Given the description of an element on the screen output the (x, y) to click on. 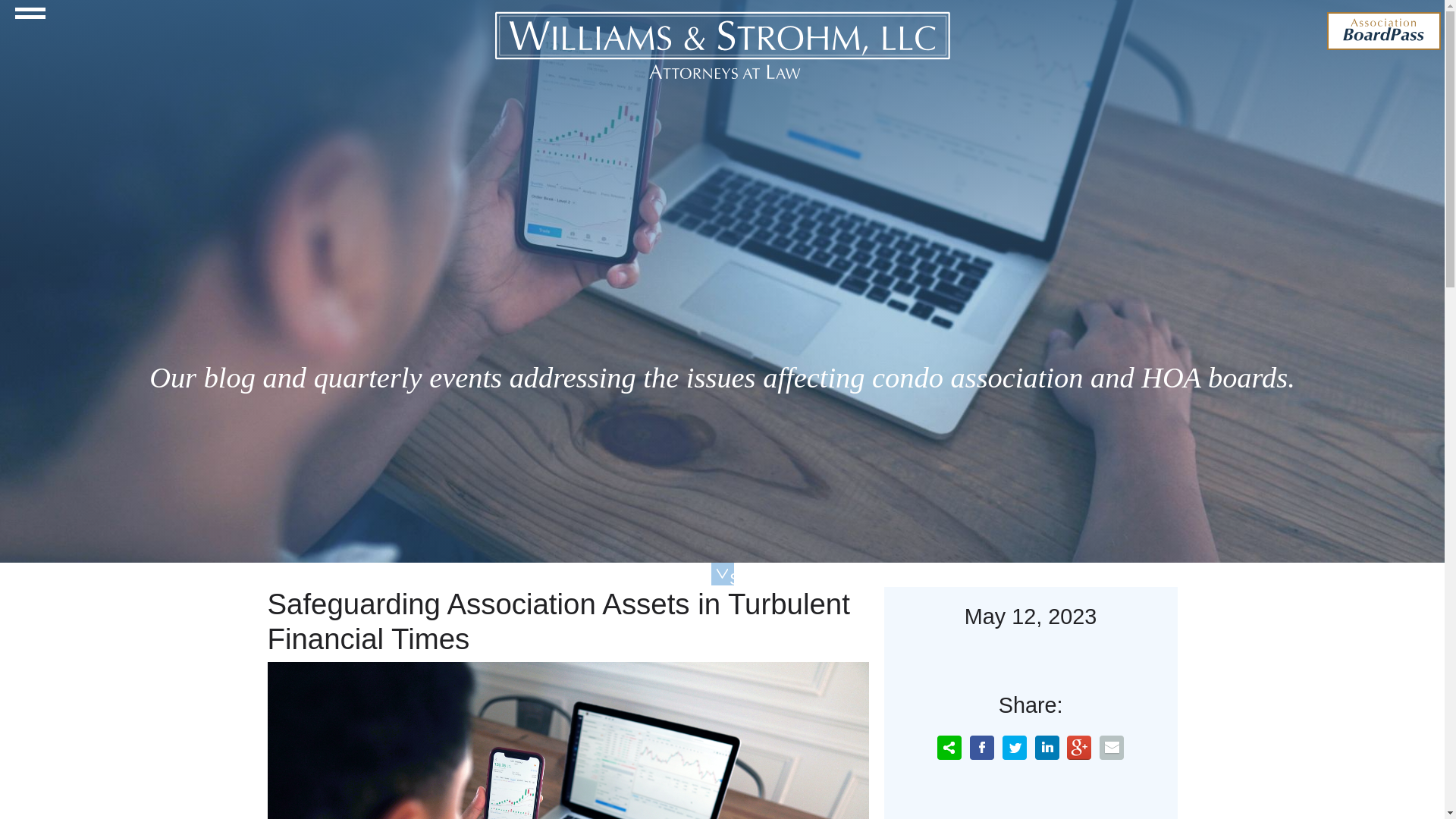
SCROLL DOWN FOR MORE (722, 573)
SCROLL DOWN FOR MORE (722, 573)
Navigation Toggle (29, 20)
Association BoardPass (1383, 30)
